Given the description of an element on the screen output the (x, y) to click on. 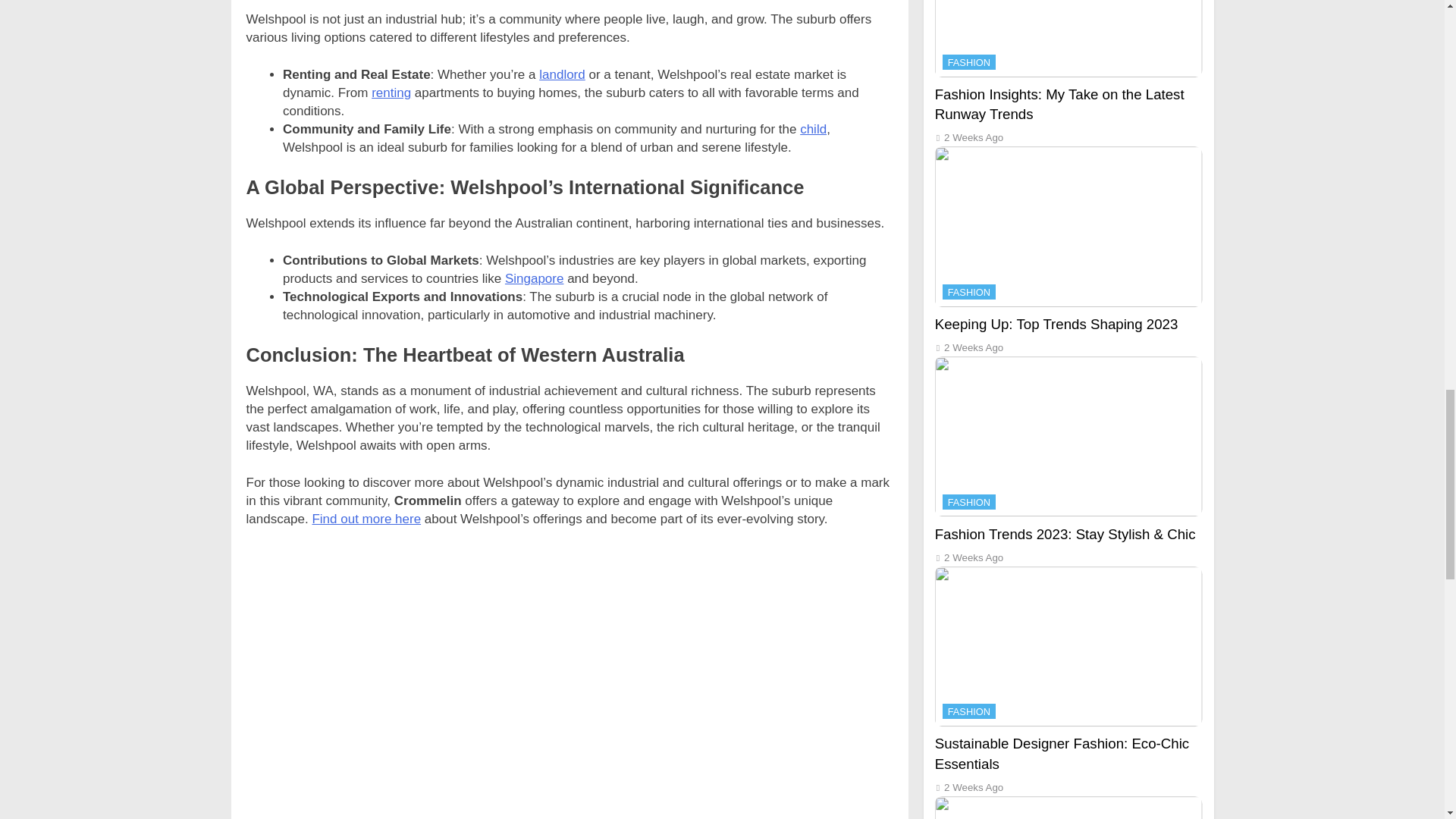
landlord (561, 74)
child (813, 129)
renting (390, 92)
Find out more here (365, 518)
Singapore (534, 278)
